Given the description of an element on the screen output the (x, y) to click on. 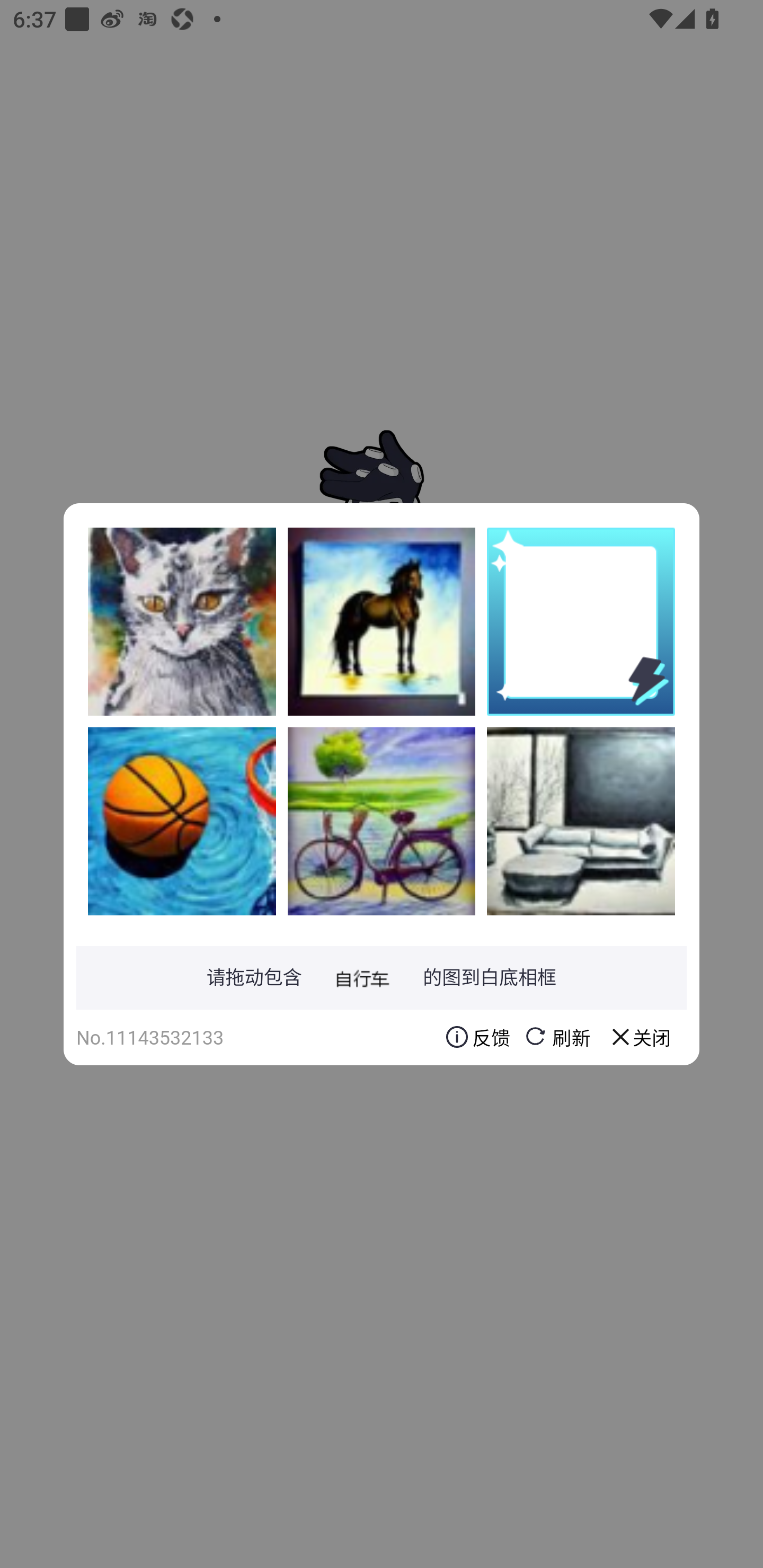
eSOb (381, 820)
